Given the description of an element on the screen output the (x, y) to click on. 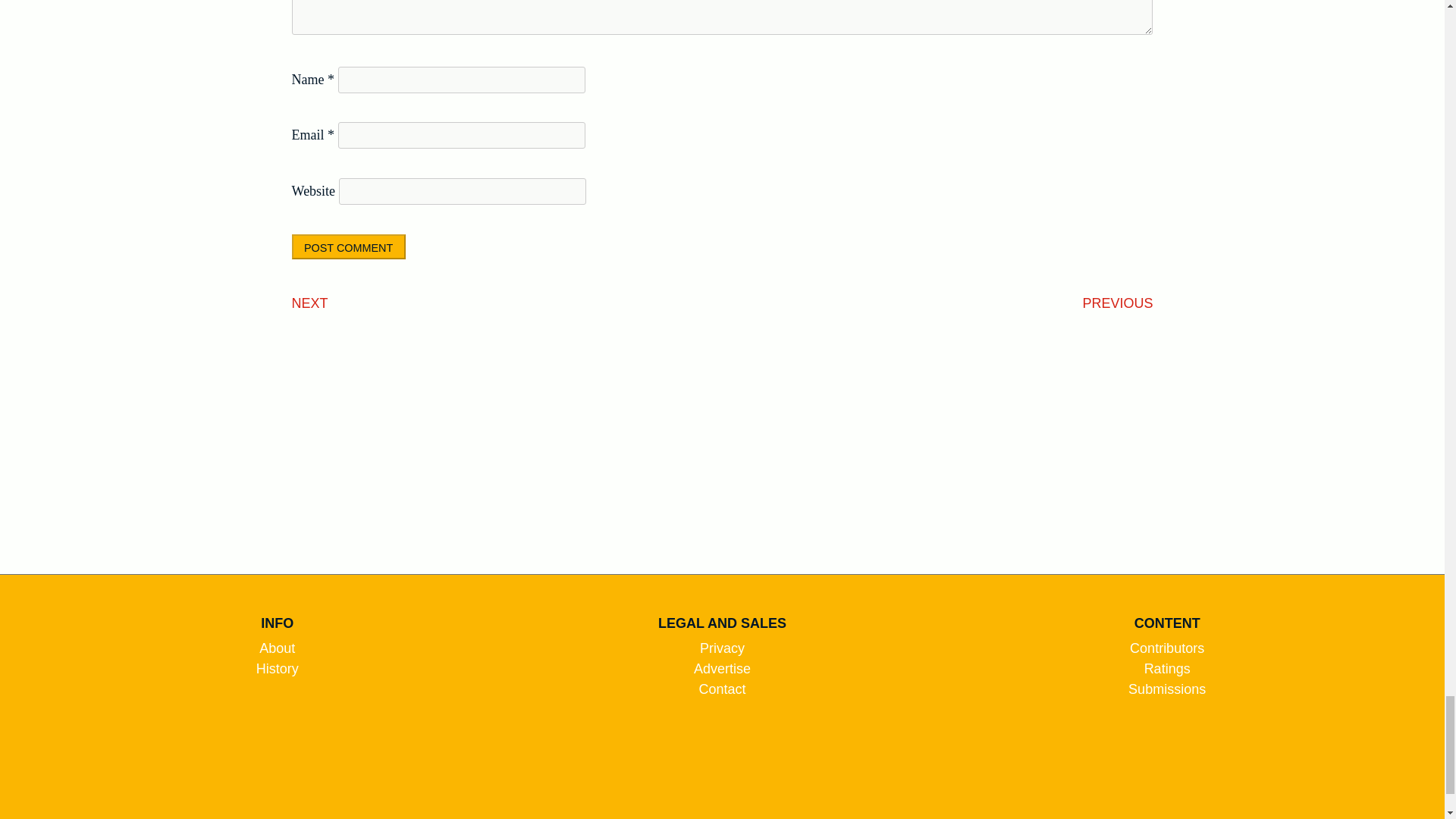
Post Comment (349, 246)
